Given the description of an element on the screen output the (x, y) to click on. 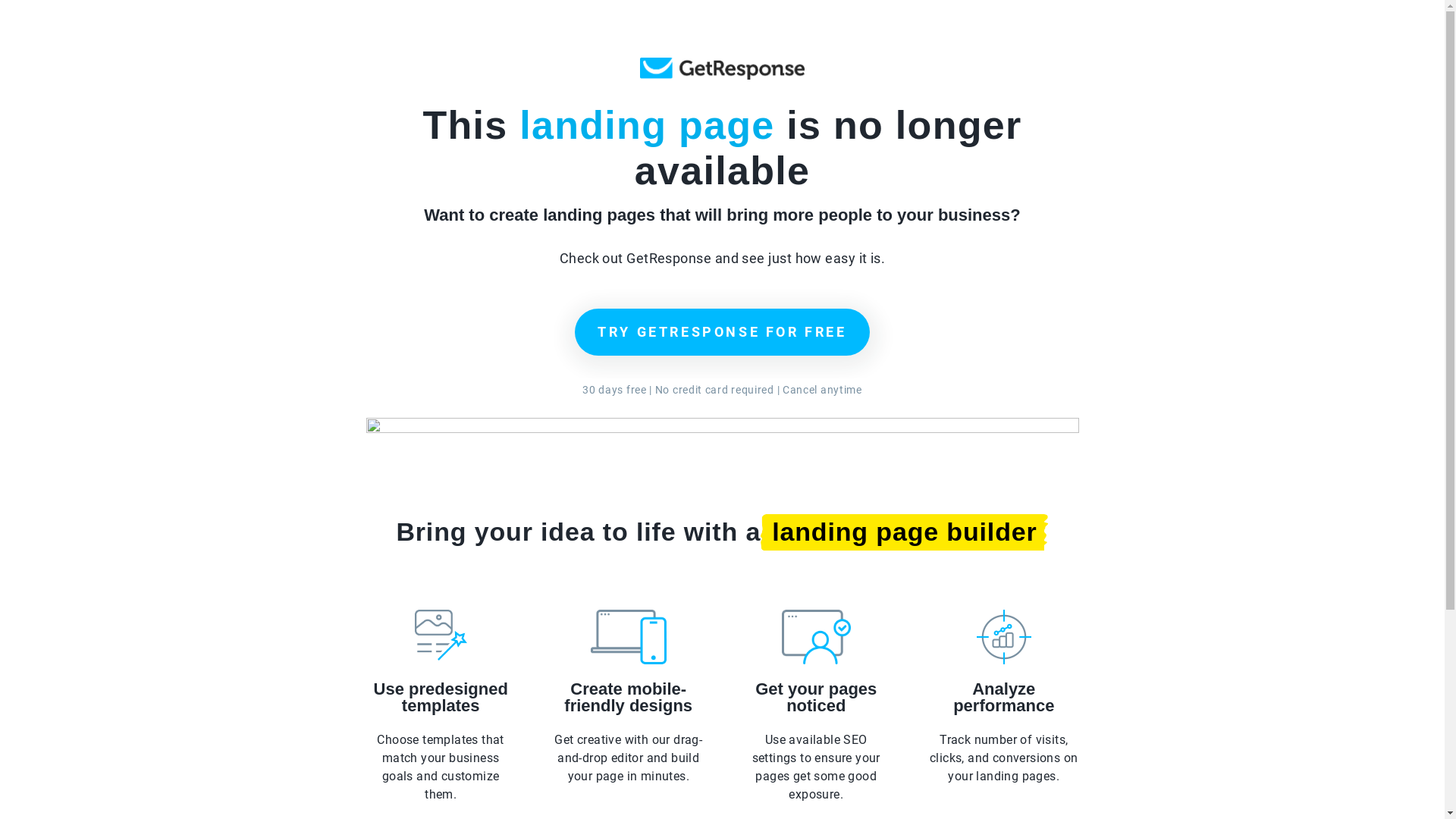
TRY GETRESPONSE FOR FREE Element type: text (721, 331)
GetResponse Element type: text (722, 68)
